Given the description of an element on the screen output the (x, y) to click on. 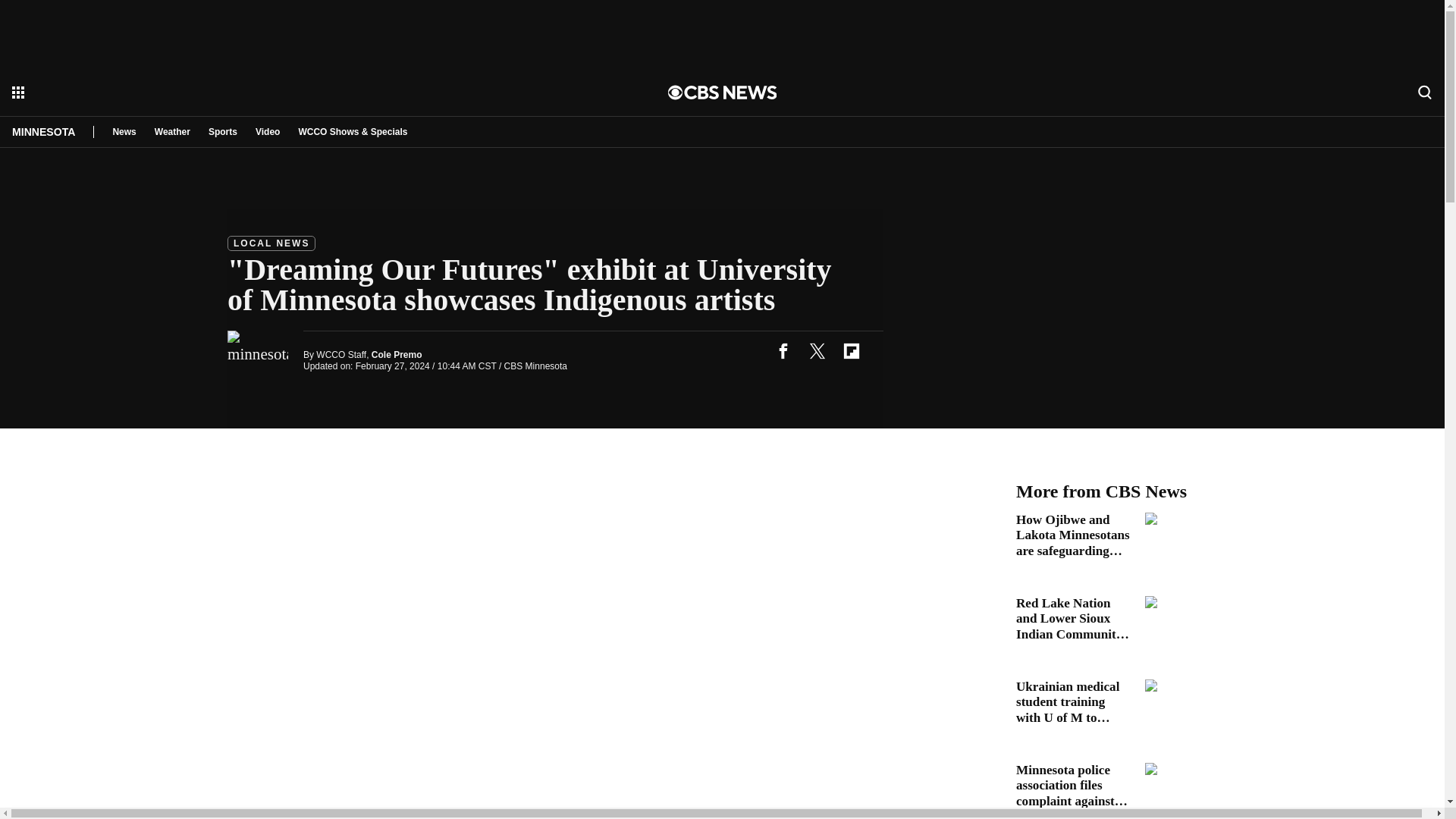
flipboard (850, 350)
twitter (816, 350)
facebook (782, 350)
